Given the description of an element on the screen output the (x, y) to click on. 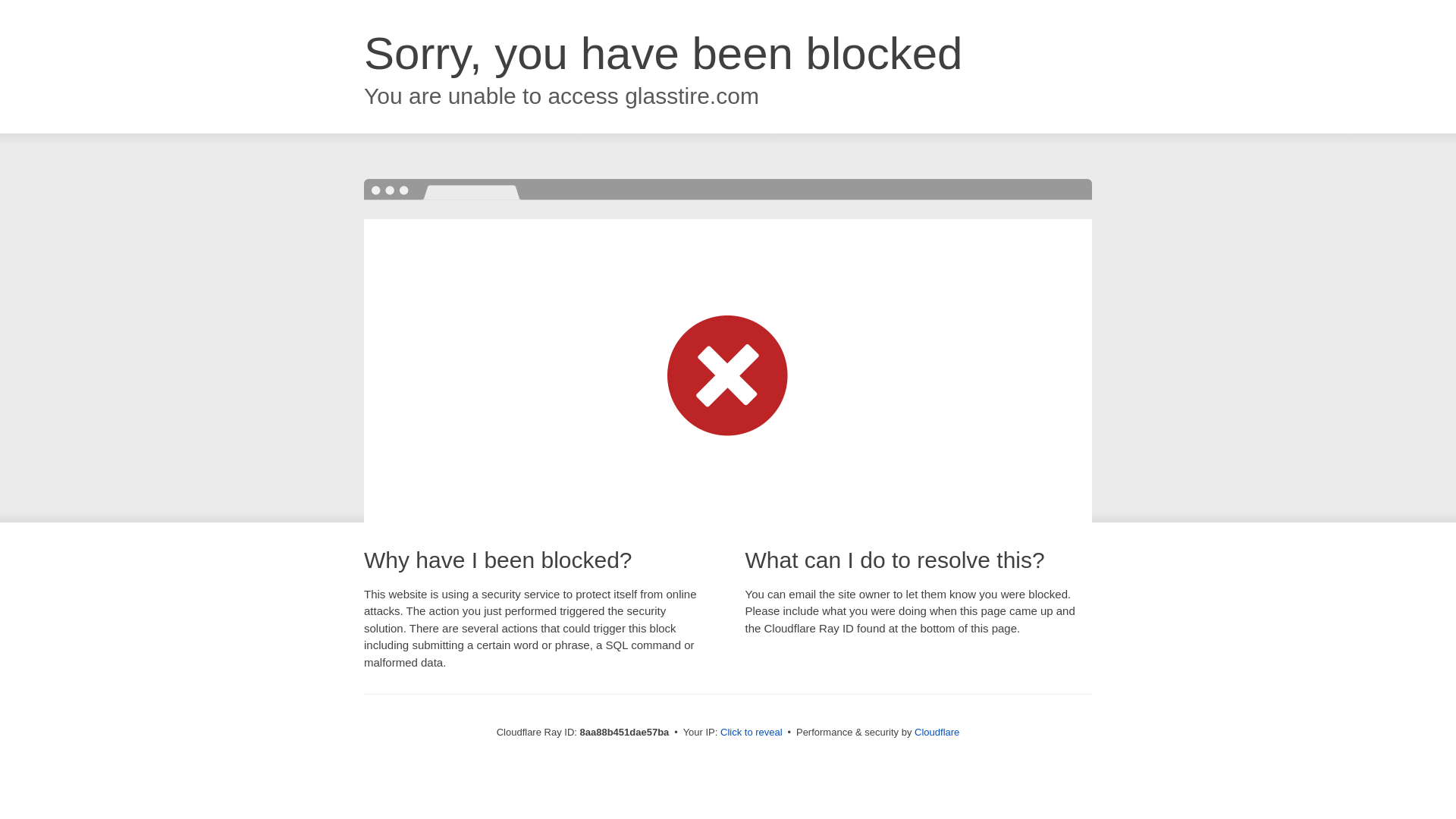
Cloudflare (936, 731)
Click to reveal (751, 732)
